Given the description of an element on the screen output the (x, y) to click on. 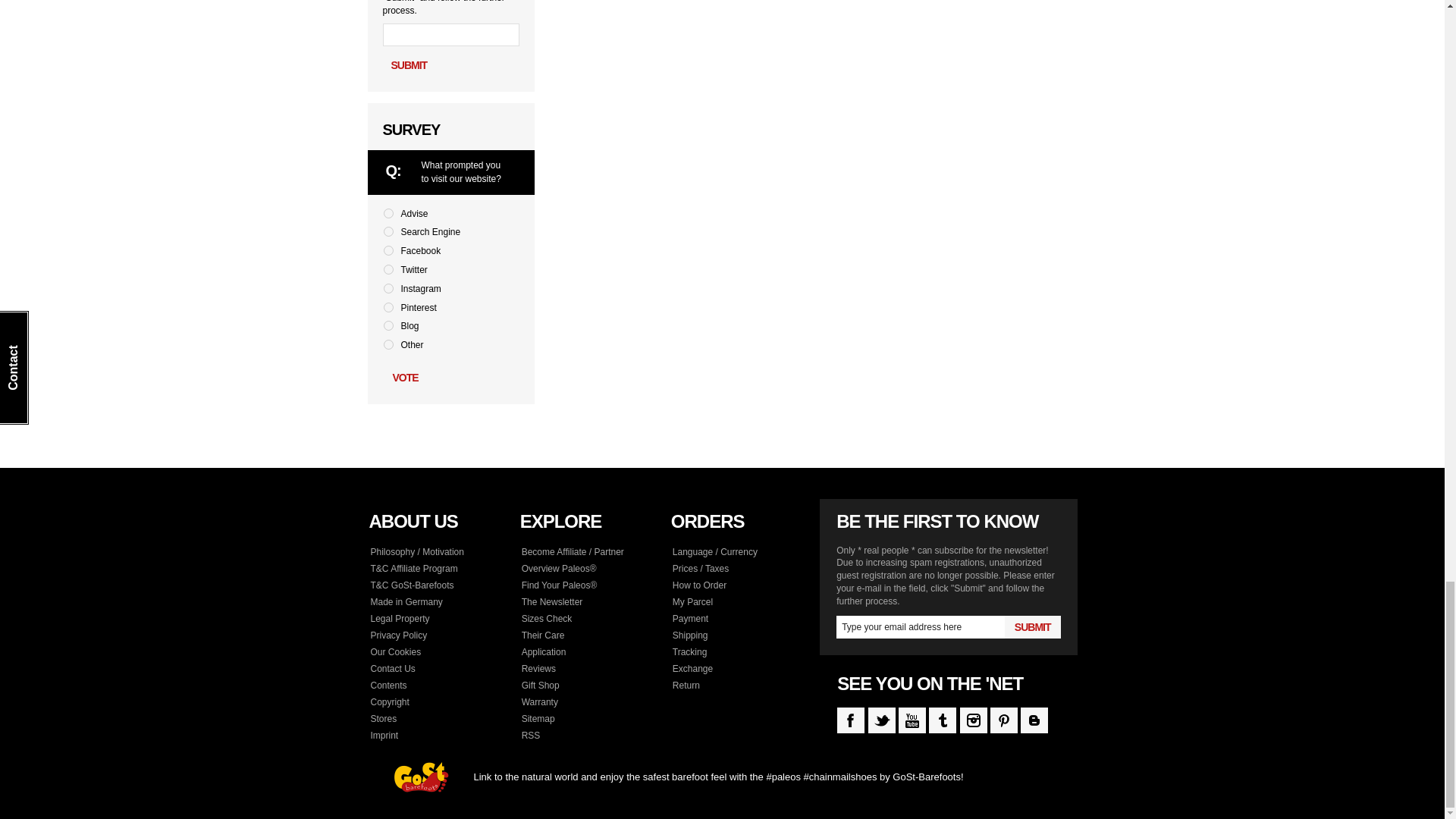
27 (388, 288)
23 (388, 213)
25 (388, 250)
Type your email address here (919, 626)
28 (388, 307)
30 (388, 344)
26 (388, 269)
24 (388, 231)
29 (388, 325)
